Given the description of an element on the screen output the (x, y) to click on. 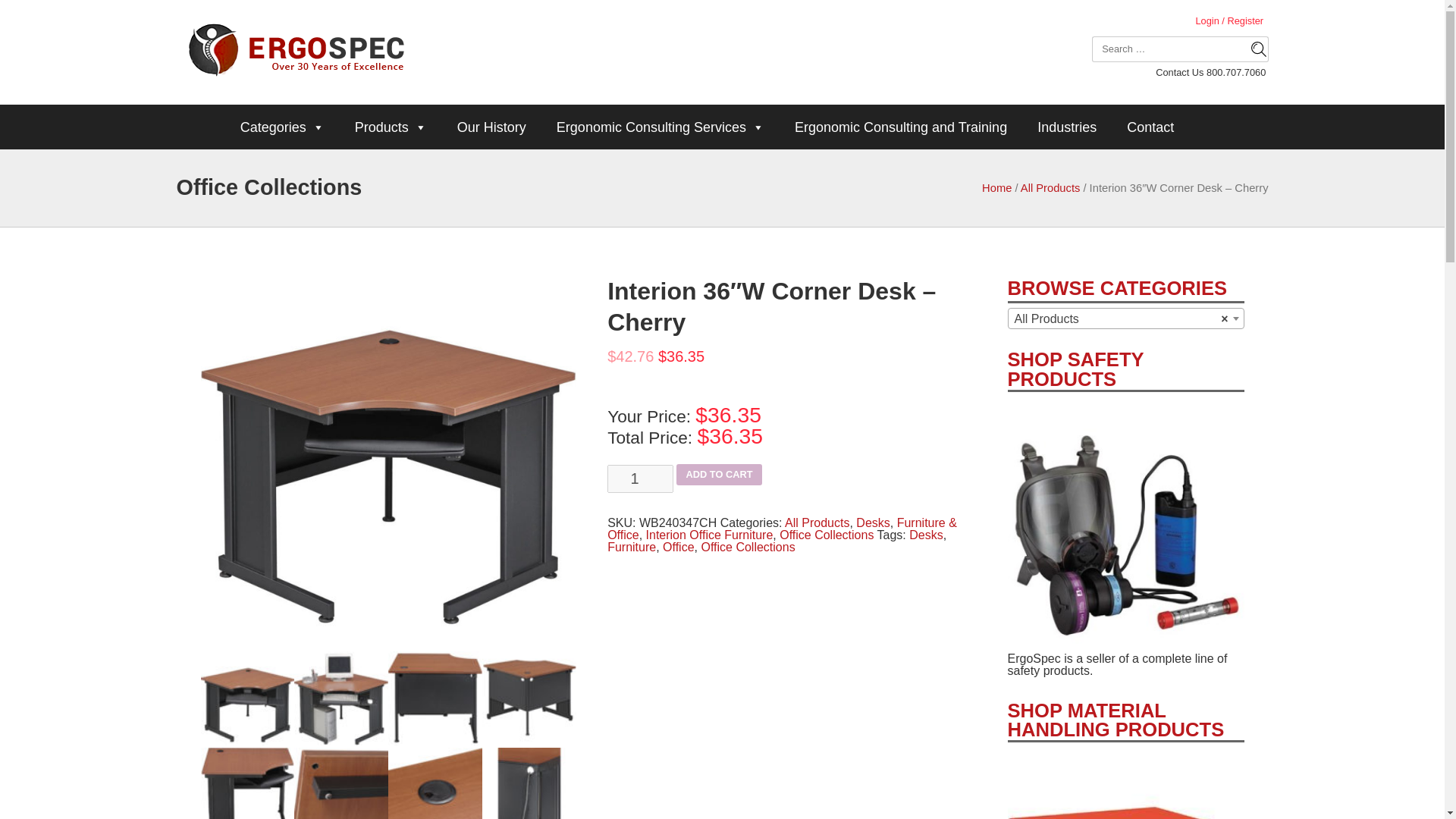
ErgoSpec (295, 52)
240267.jpg (341, 698)
Search (1253, 49)
Search (1253, 49)
Search (1253, 49)
Categories (282, 127)
1 (639, 479)
